Given the description of an element on the screen output the (x, y) to click on. 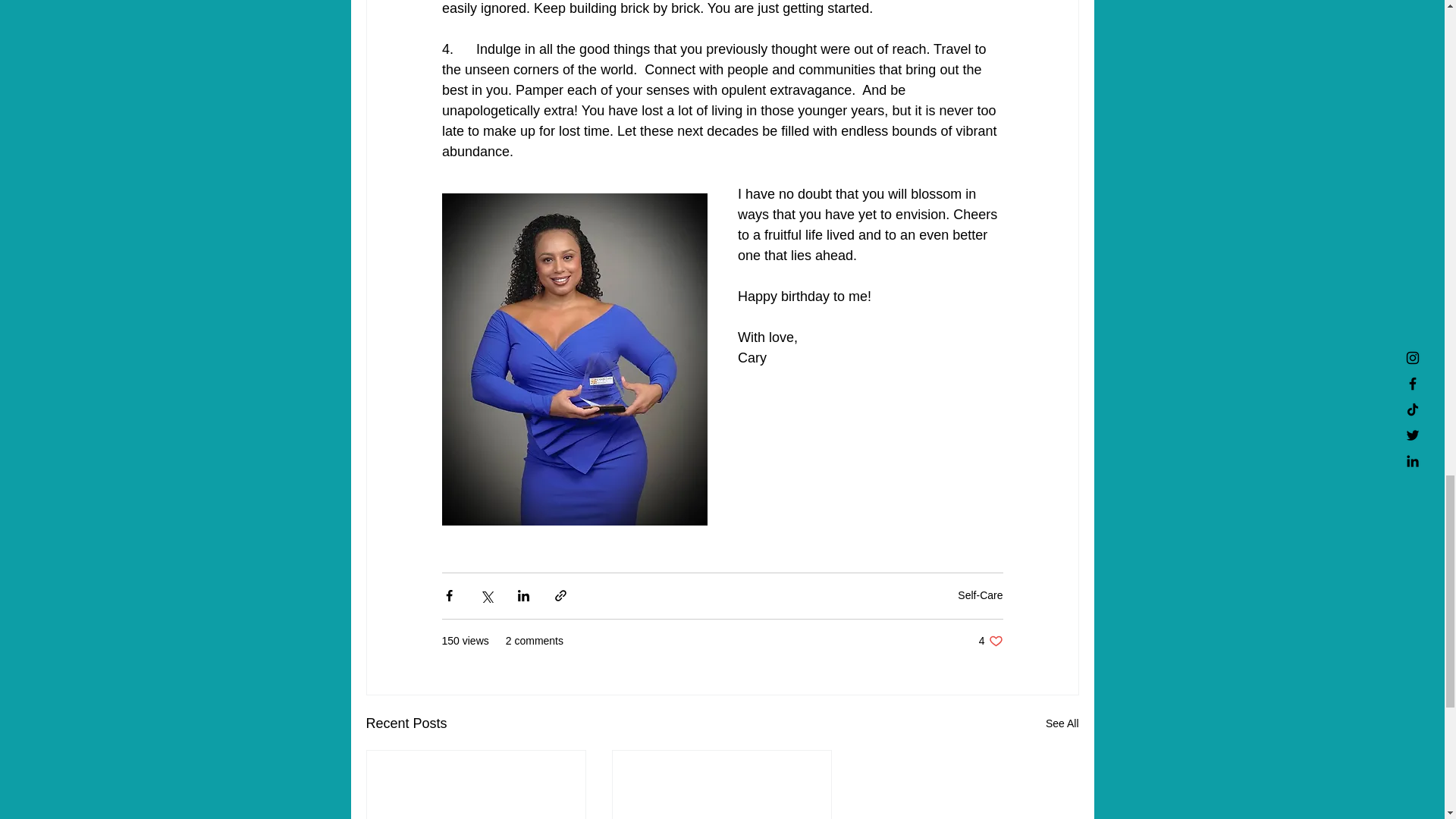
See All (1061, 723)
Self-Care (990, 640)
